Given the description of an element on the screen output the (x, y) to click on. 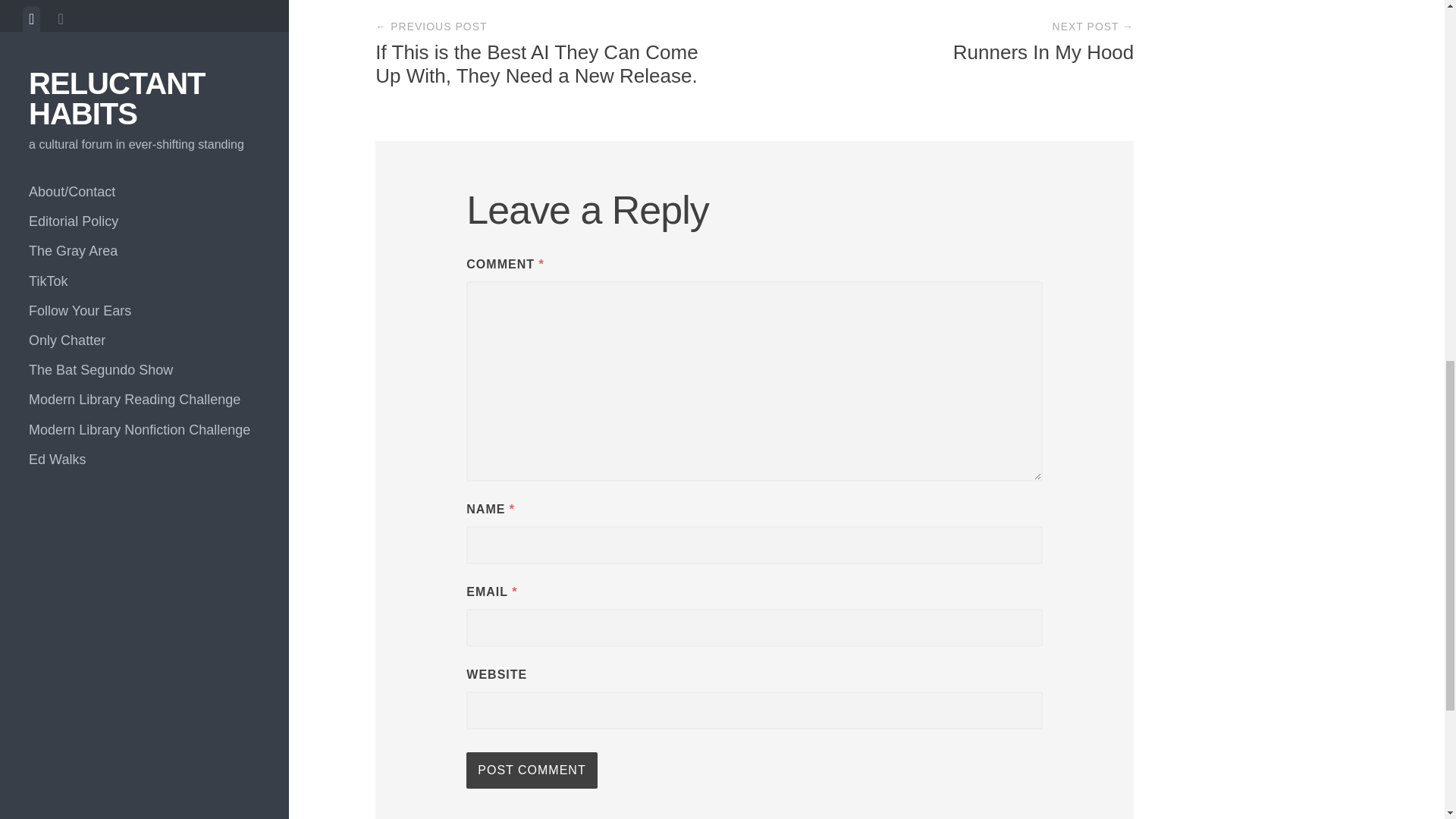
Post Comment (530, 770)
